Given the description of an element on the screen output the (x, y) to click on. 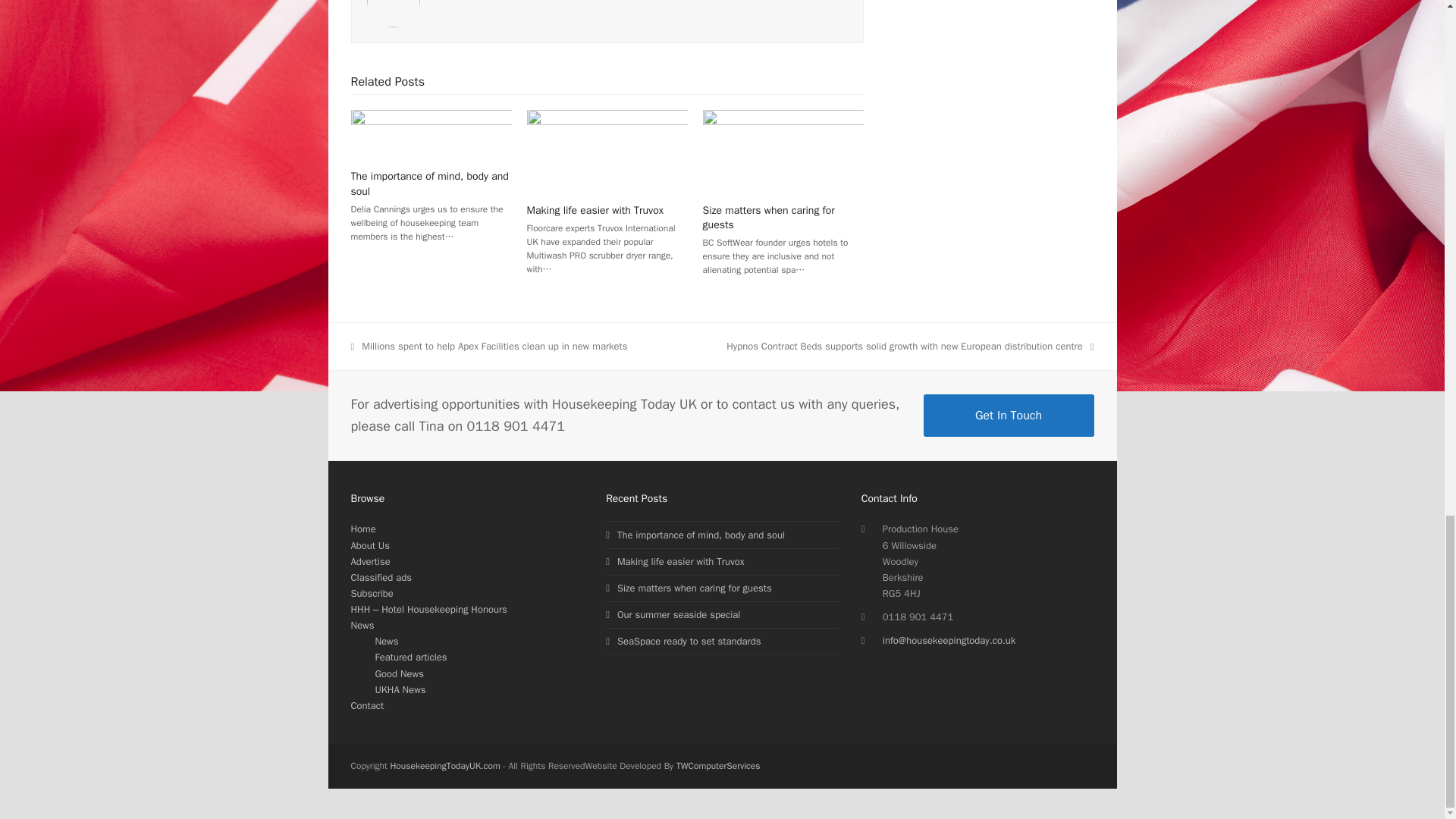
Making life easier with Truvox (607, 149)
Get In Touch (1008, 414)
The importance of mind, body and soul (429, 183)
The importance of mind, body and soul (430, 132)
Size matters when caring for guests (783, 149)
Size matters when caring for guests (768, 216)
Making life easier with Truvox (595, 210)
Home (362, 528)
Visit Author Page (393, 3)
